Given the description of an element on the screen output the (x, y) to click on. 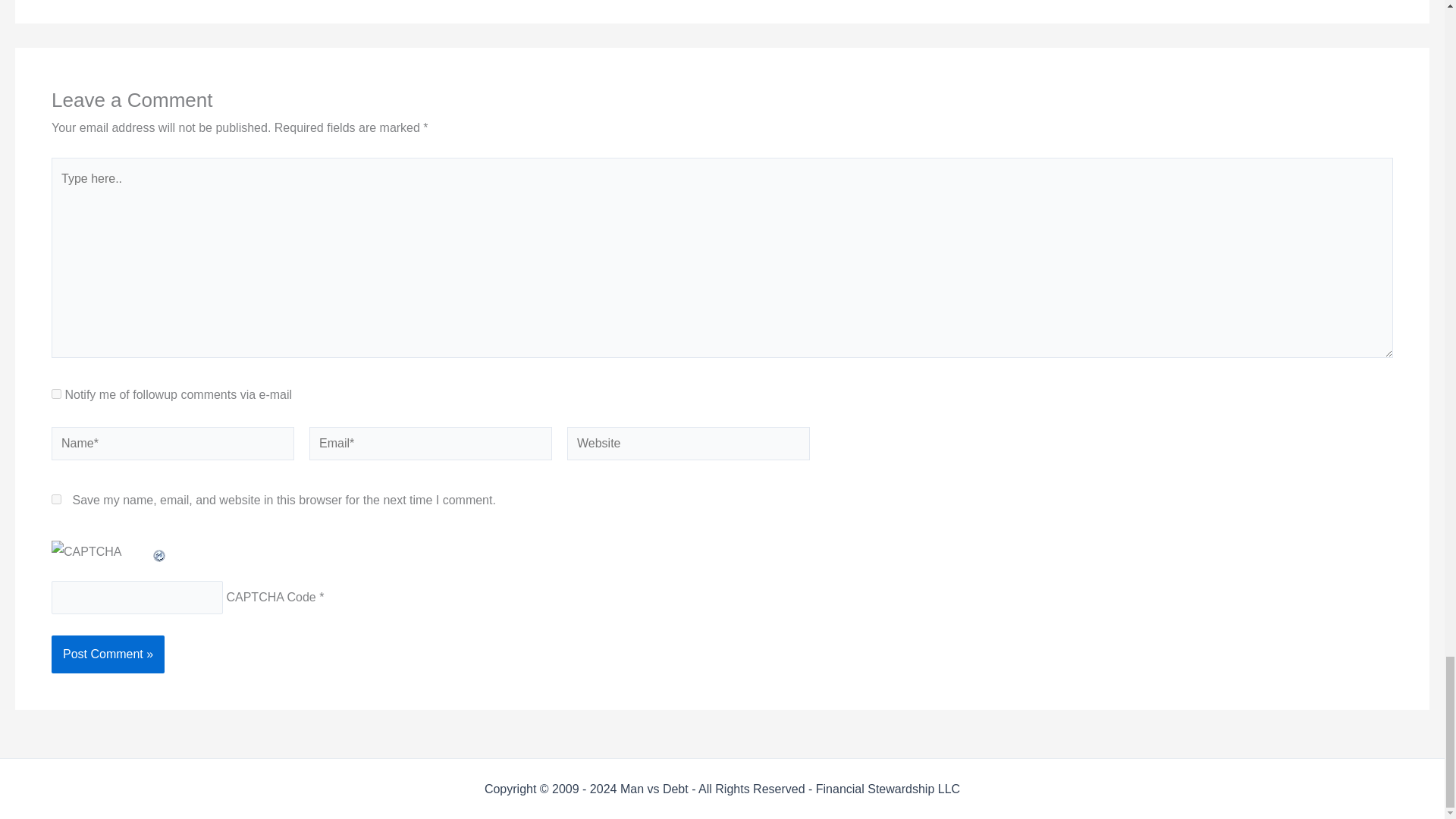
CAPTCHA (100, 556)
yes (55, 499)
Refresh (159, 551)
subscribe (55, 393)
